Given the description of an element on the screen output the (x, y) to click on. 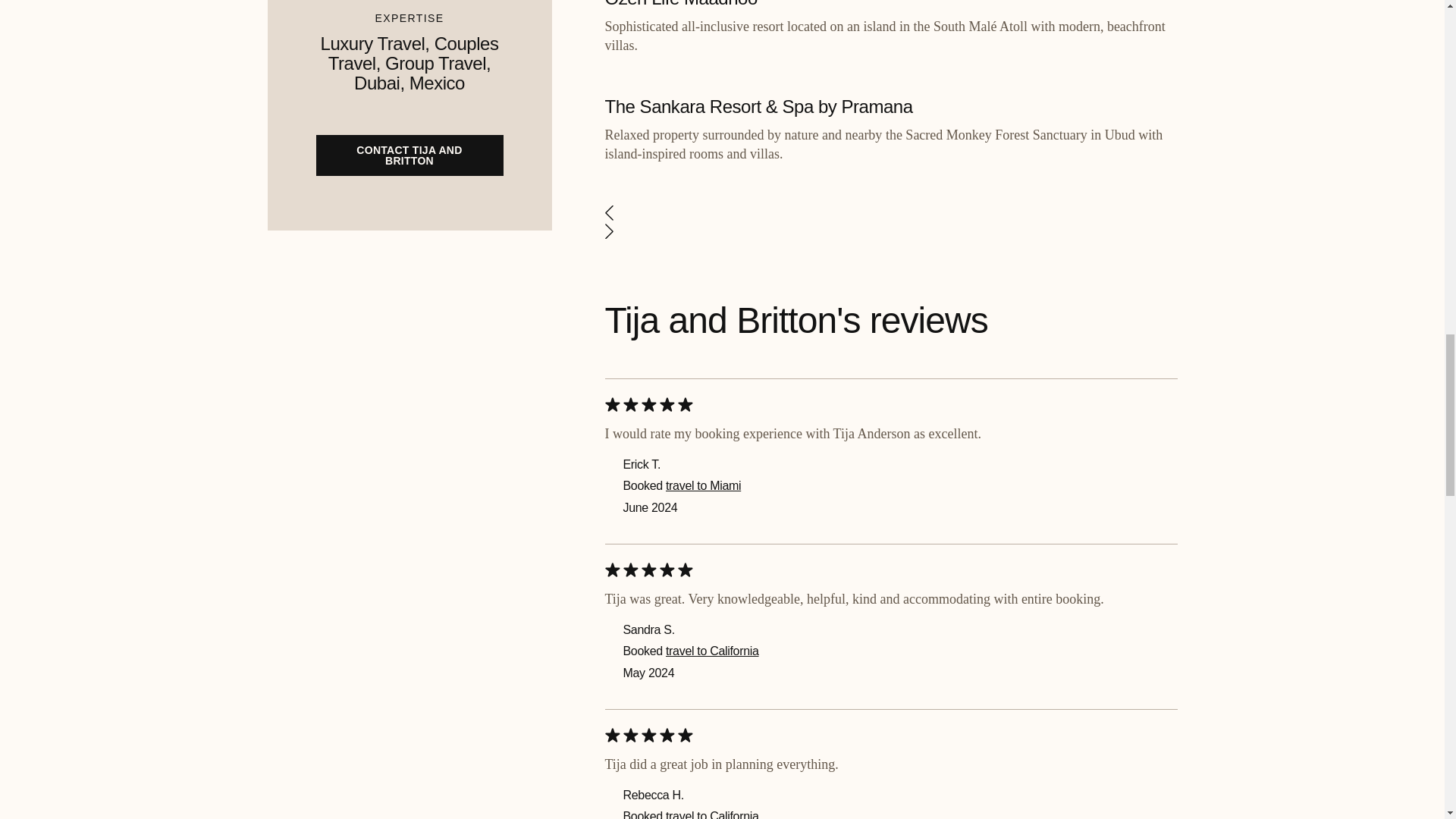
travel to California (711, 367)
travel to Miami (703, 36)
travel to California (711, 201)
VIEW MORE (890, 655)
travel to New York City (724, 551)
